Given the description of an element on the screen output the (x, y) to click on. 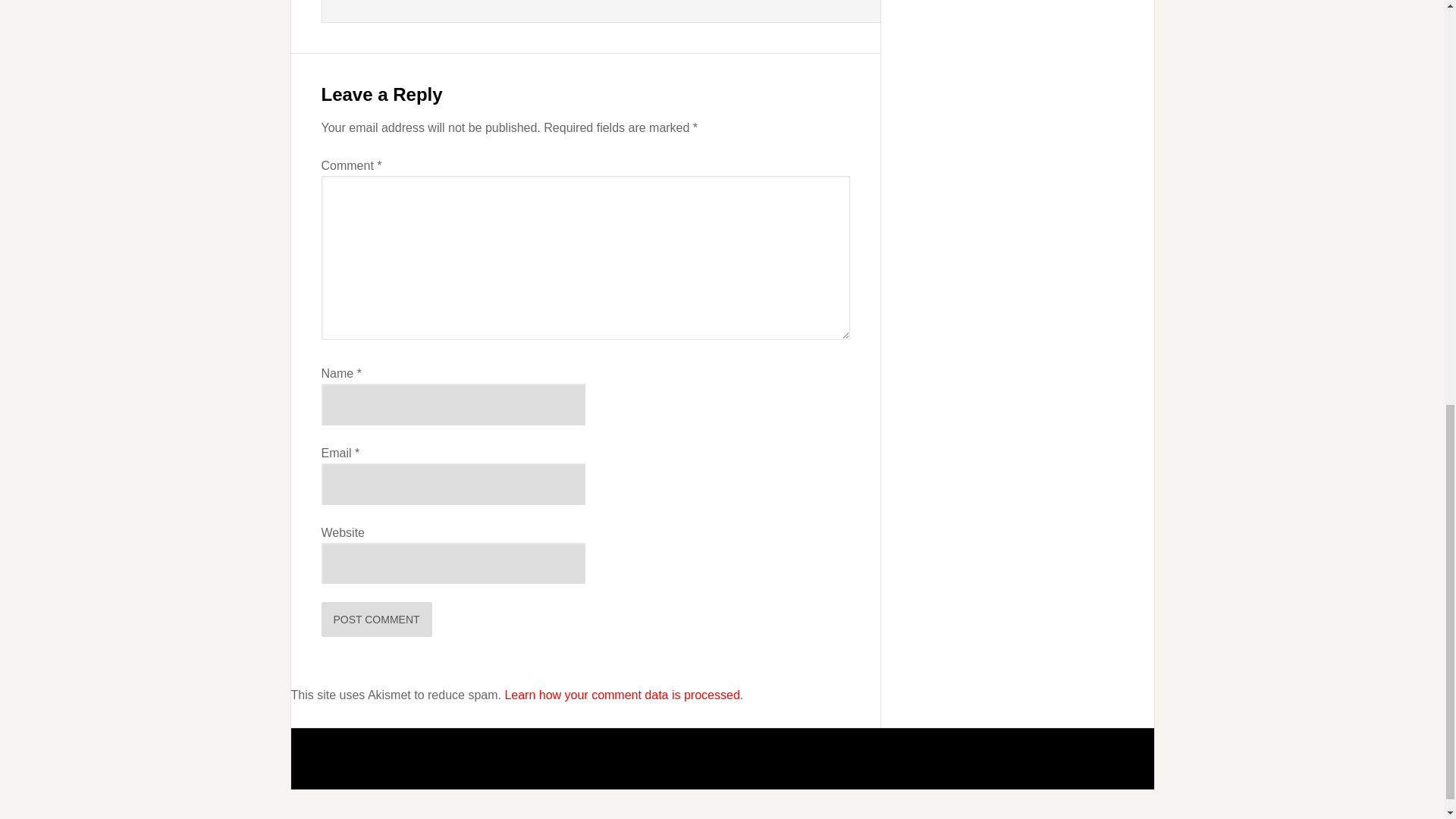
Post Comment (376, 619)
Post Comment (376, 619)
Learn how your comment data is processed (621, 694)
